Given the description of an element on the screen output the (x, y) to click on. 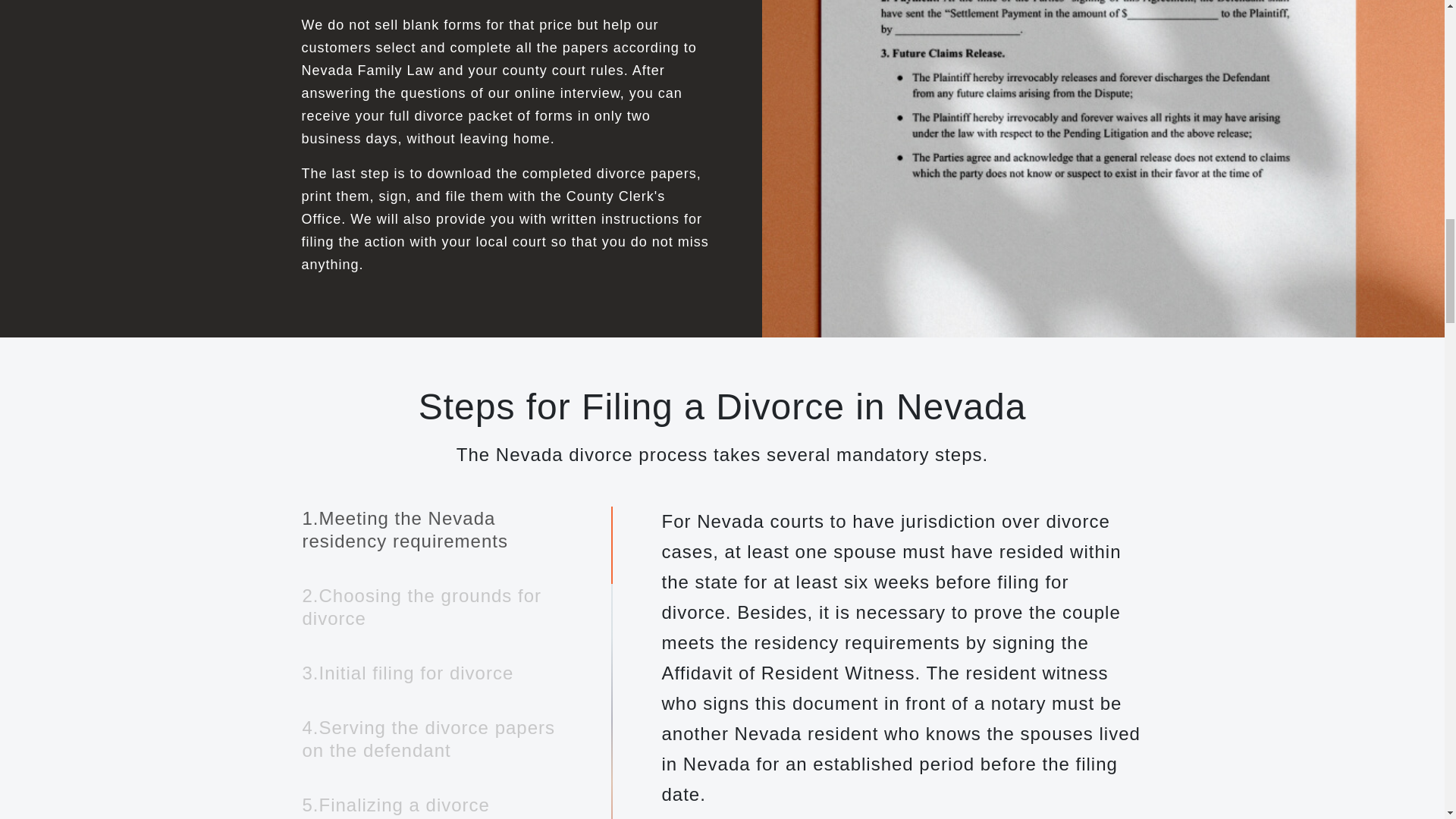
5.Finalizing a divorce (395, 805)
4.Serving the divorce papers on the defendant (430, 738)
3.Initial filing for divorce (408, 672)
2.Choosing the grounds for divorce (430, 606)
1.Meeting the Nevada residency requirements (430, 529)
